Given the description of an element on the screen output the (x, y) to click on. 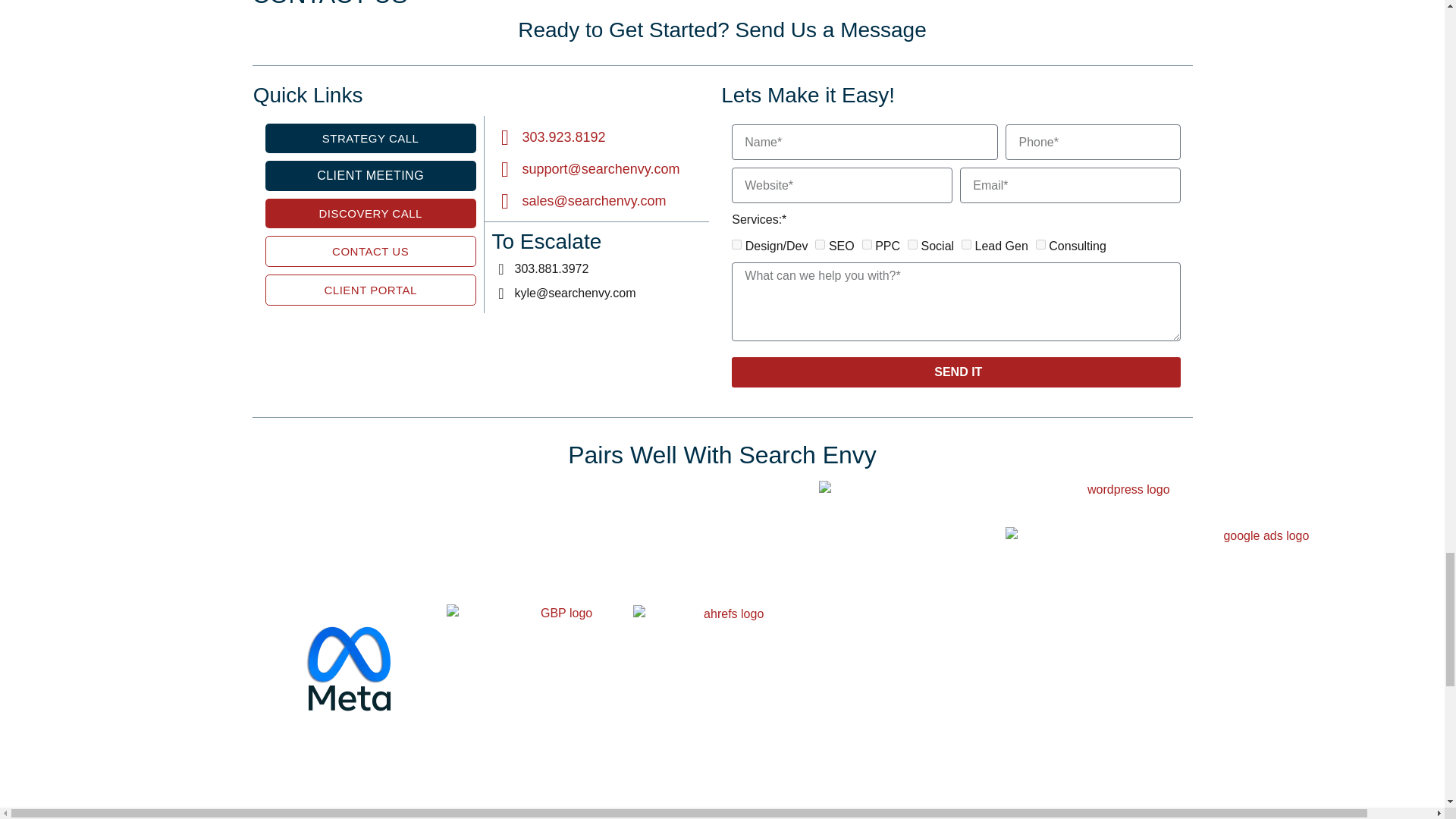
Social (912, 244)
Lead Gen (965, 244)
PPC (866, 244)
Consulting (1040, 244)
SEO (820, 244)
